Given the description of an element on the screen output the (x, y) to click on. 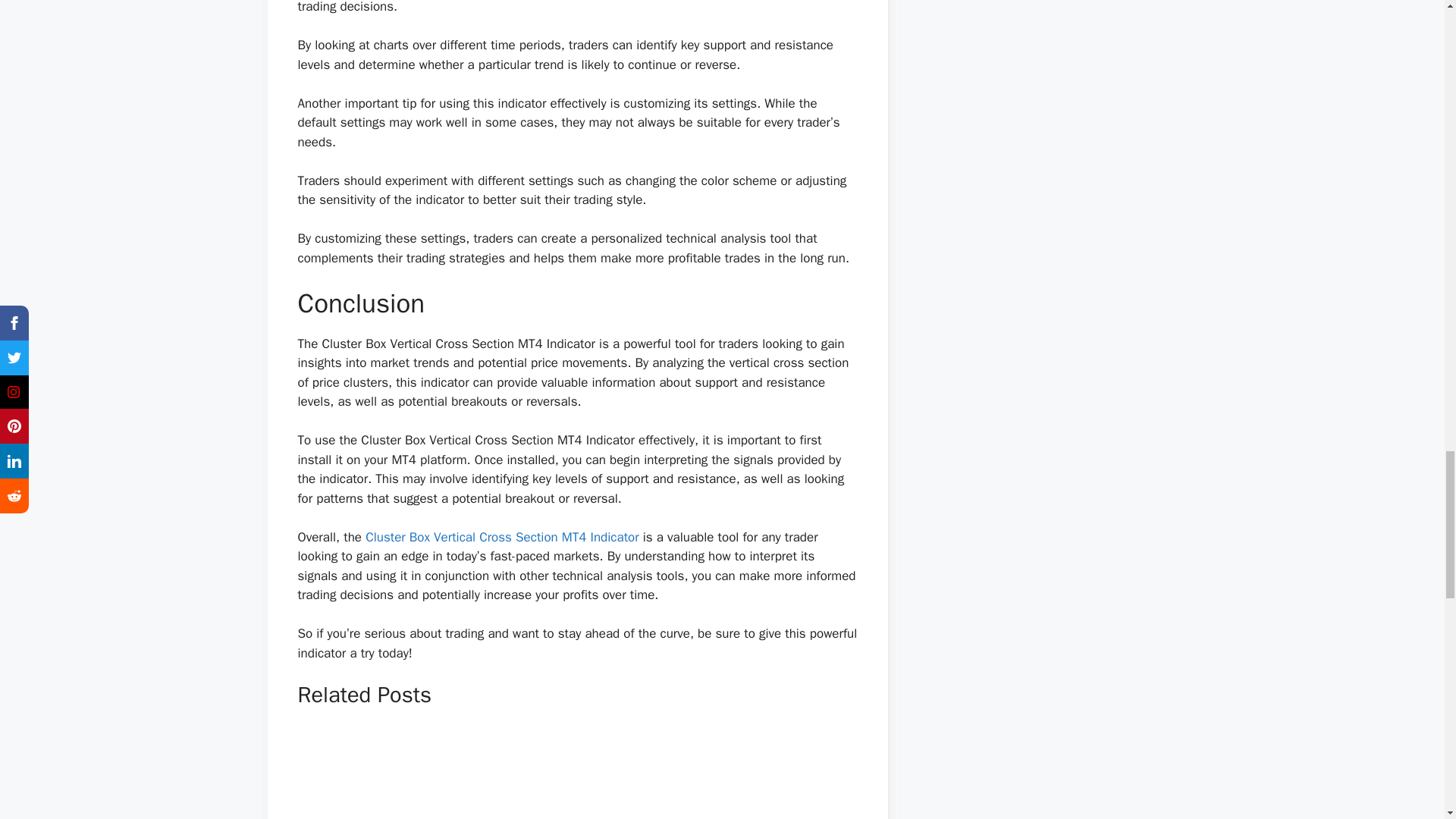
Cluster Box Vertical Cross Section MT4 Indicator (502, 537)
